Given the description of an element on the screen output the (x, y) to click on. 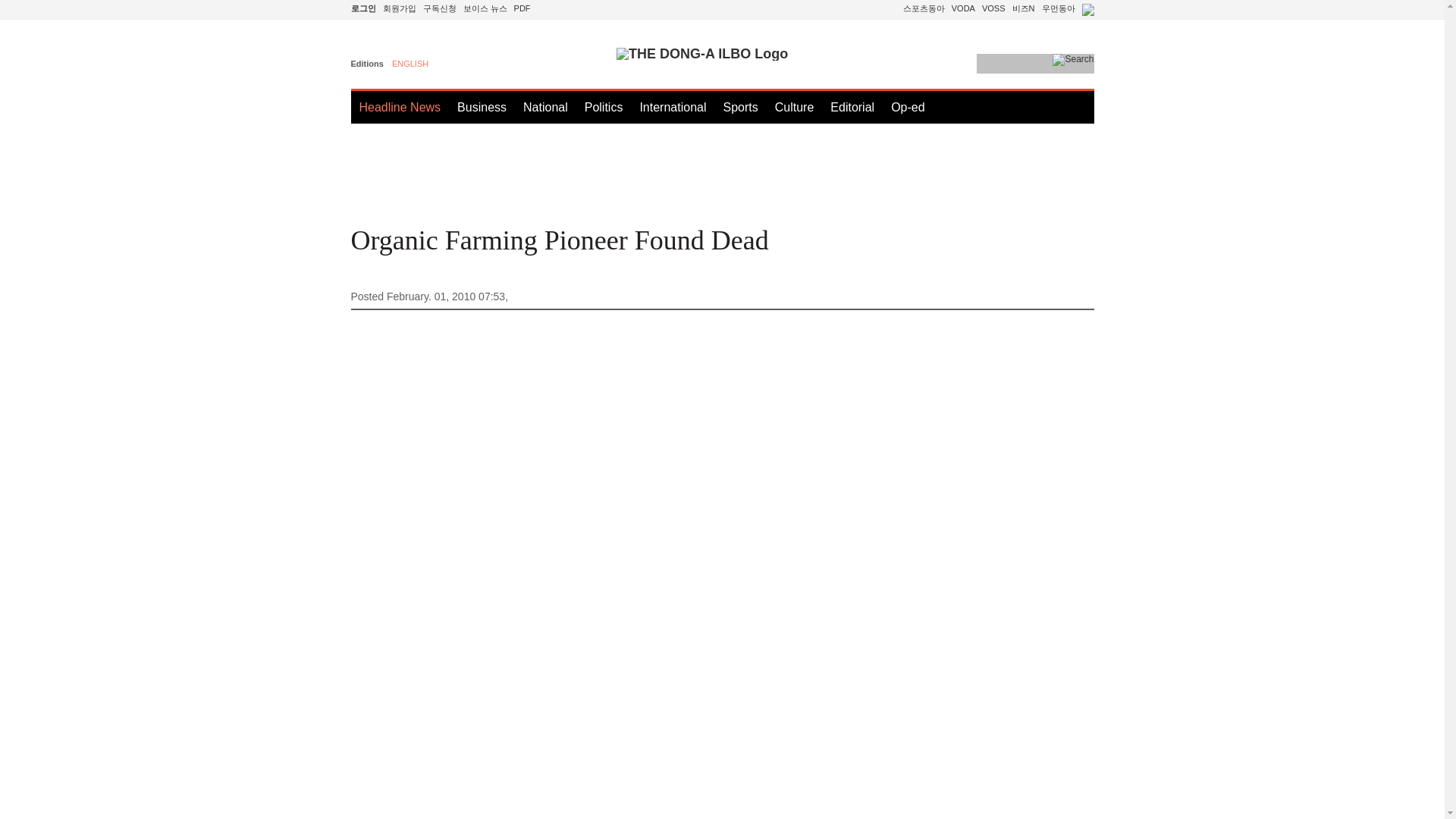
Editorial (852, 106)
BIZN (1023, 8)
Headline News (400, 106)
International (672, 106)
Sports (739, 106)
VODA (963, 8)
VOSS (993, 8)
Op-ed (907, 106)
WOMAN (1058, 8)
SPORTS (923, 8)
